Given the description of an element on the screen output the (x, y) to click on. 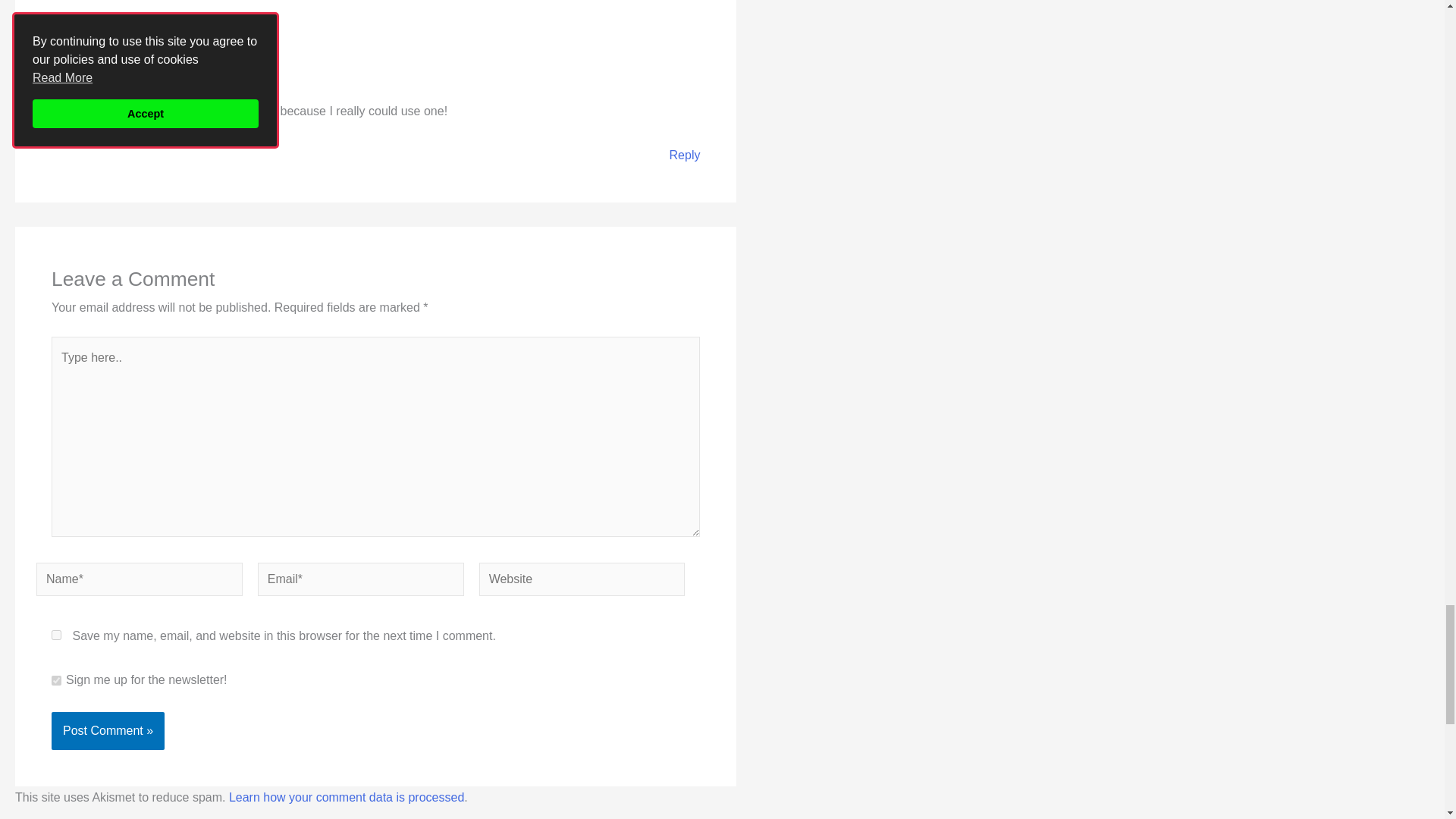
1 (55, 680)
yes (55, 634)
